Given the description of an element on the screen output the (x, y) to click on. 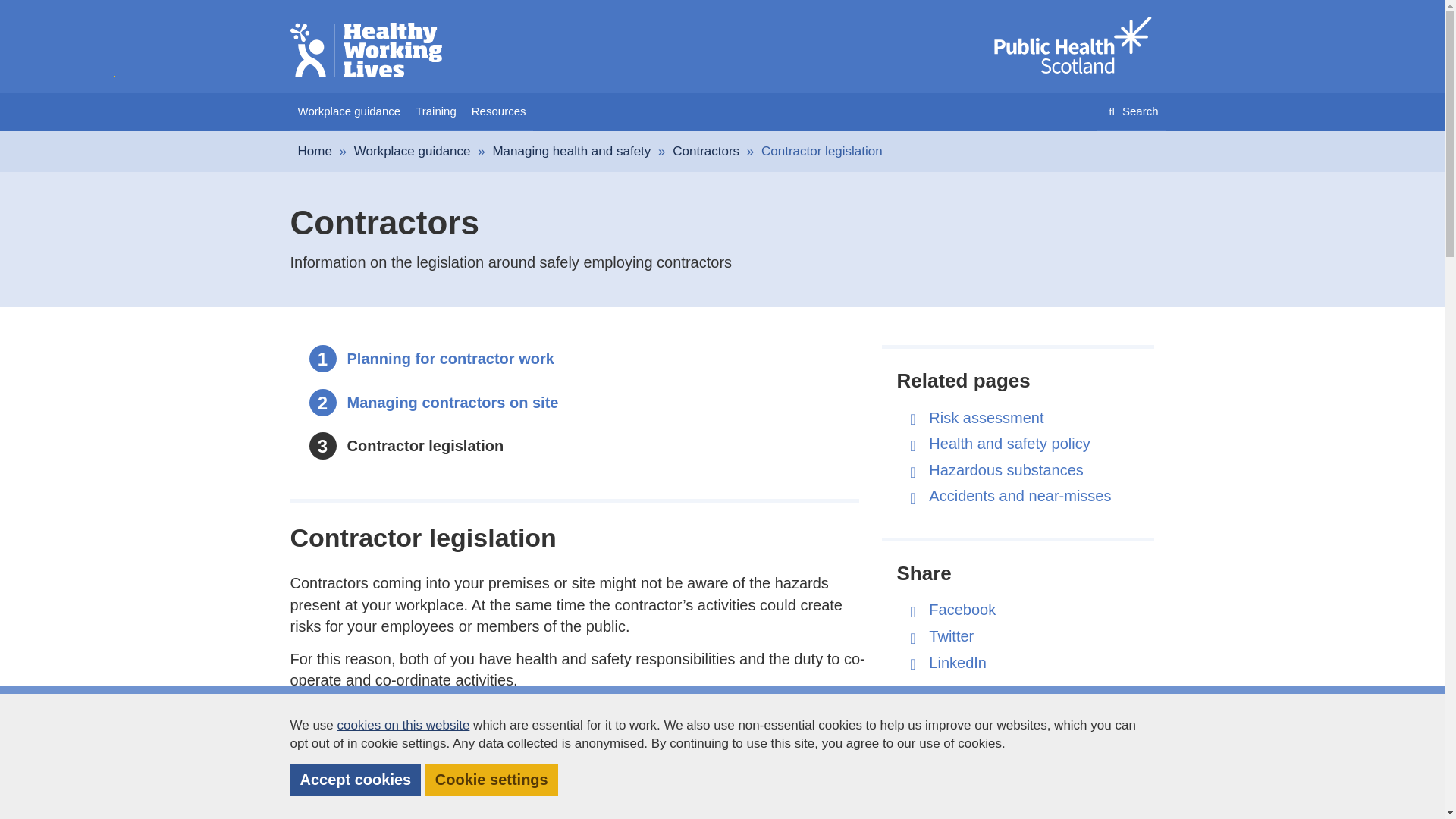
Workplace guidance (348, 111)
Cookie settings (491, 779)
Accept cookies (354, 779)
Health and safety policy (1008, 443)
Contractors (705, 151)
Risk assessment (425, 445)
Managing health and safety (985, 417)
Hazardous substances (571, 151)
Visit Public Health Scotland (1005, 469)
Search (1070, 45)
Healthy Working Lives (450, 358)
Planning for contractor work (1131, 111)
Submit (365, 49)
